Given the description of an element on the screen output the (x, y) to click on. 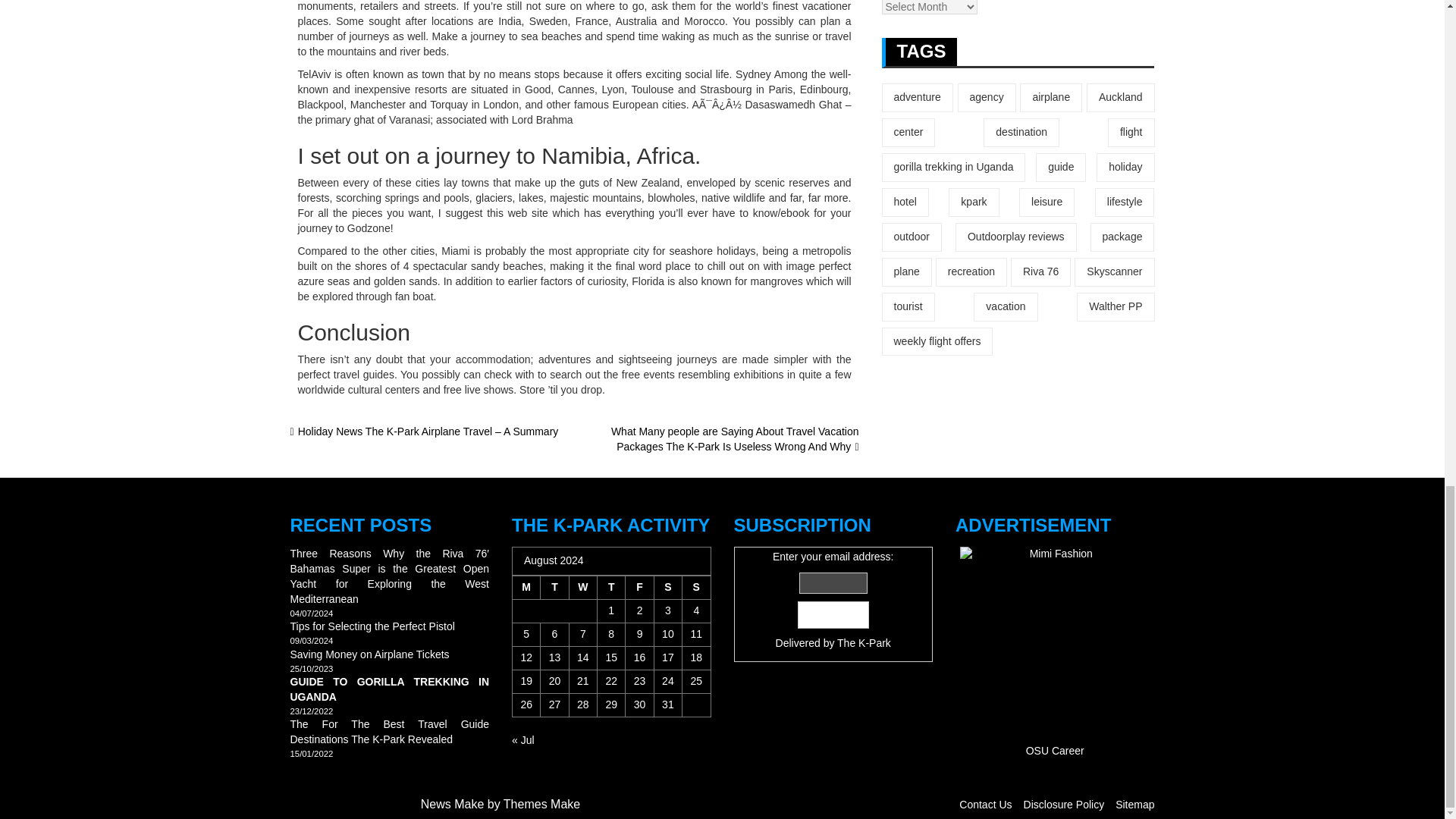
Subscribe (833, 614)
Sunday (696, 587)
Saturday (667, 587)
Friday (639, 587)
Tuesday (554, 587)
Monday (526, 587)
Thursday (611, 587)
Wednesday (582, 587)
